Given the description of an element on the screen output the (x, y) to click on. 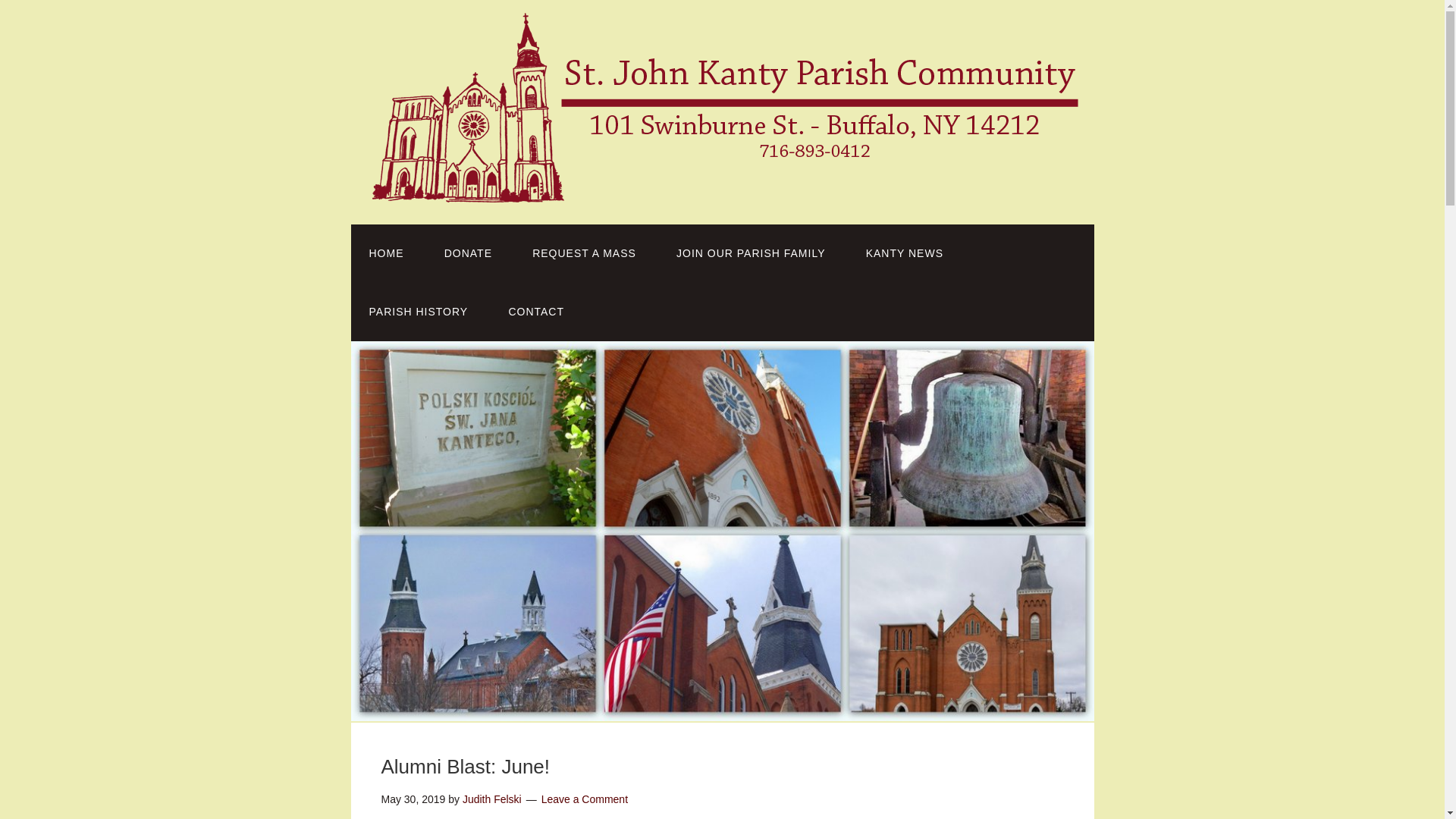
KANTY NEWS (903, 253)
Thursday, May 30, 2019, 5:00 pm (412, 799)
HOME (386, 253)
JOIN OUR PARISH FAMILY (751, 253)
St. John Kanty Church - Buffalo (725, 190)
Leave a Comment (584, 799)
PARISH HISTORY (418, 311)
Judith Felski (492, 799)
DONATE (468, 253)
CONTACT (535, 311)
